Given the description of an element on the screen output the (x, y) to click on. 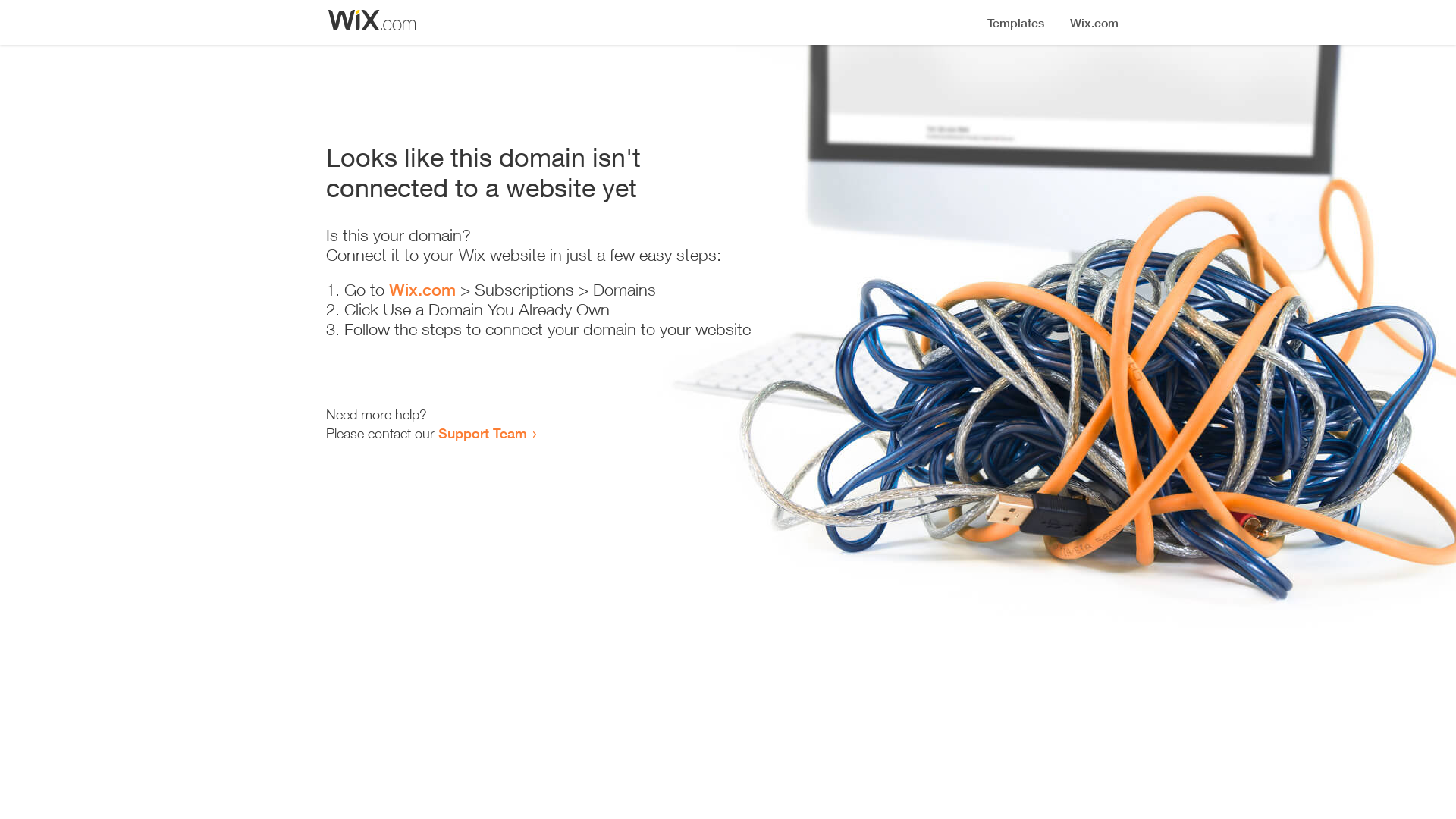
Support Team Element type: text (482, 432)
Wix.com Element type: text (422, 289)
